Given the description of an element on the screen output the (x, y) to click on. 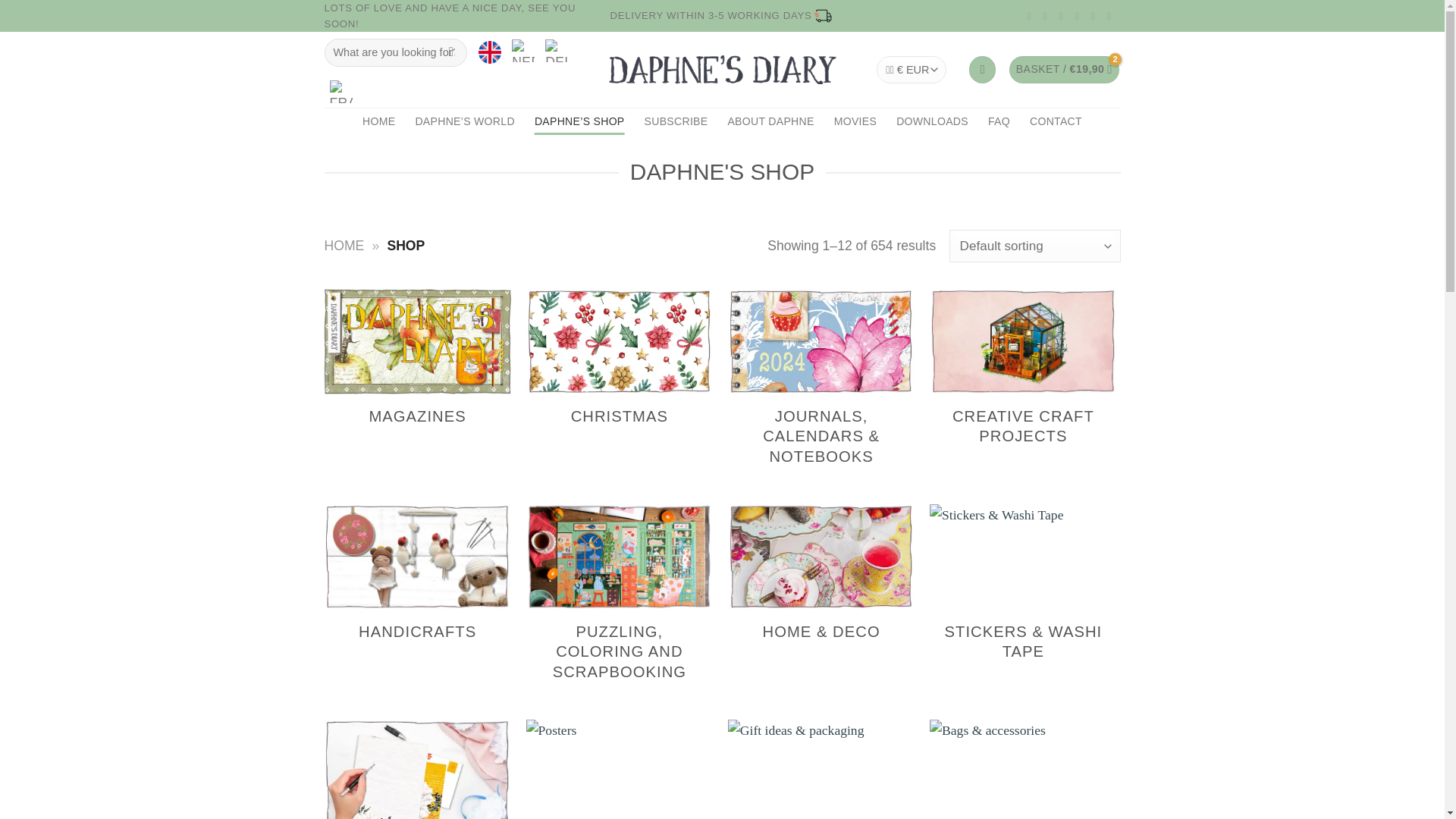
MAGAZINES (417, 369)
ABOUT DAPHNE (769, 121)
Login (982, 69)
CONTACT (1055, 121)
CHRISTMAS (619, 369)
HOME (344, 245)
DOWNLOADS (932, 121)
CREATIVE CRAFT PROJECTS (1023, 379)
SUBSCRIBE (676, 121)
Basket (1064, 69)
